Given the description of an element on the screen output the (x, y) to click on. 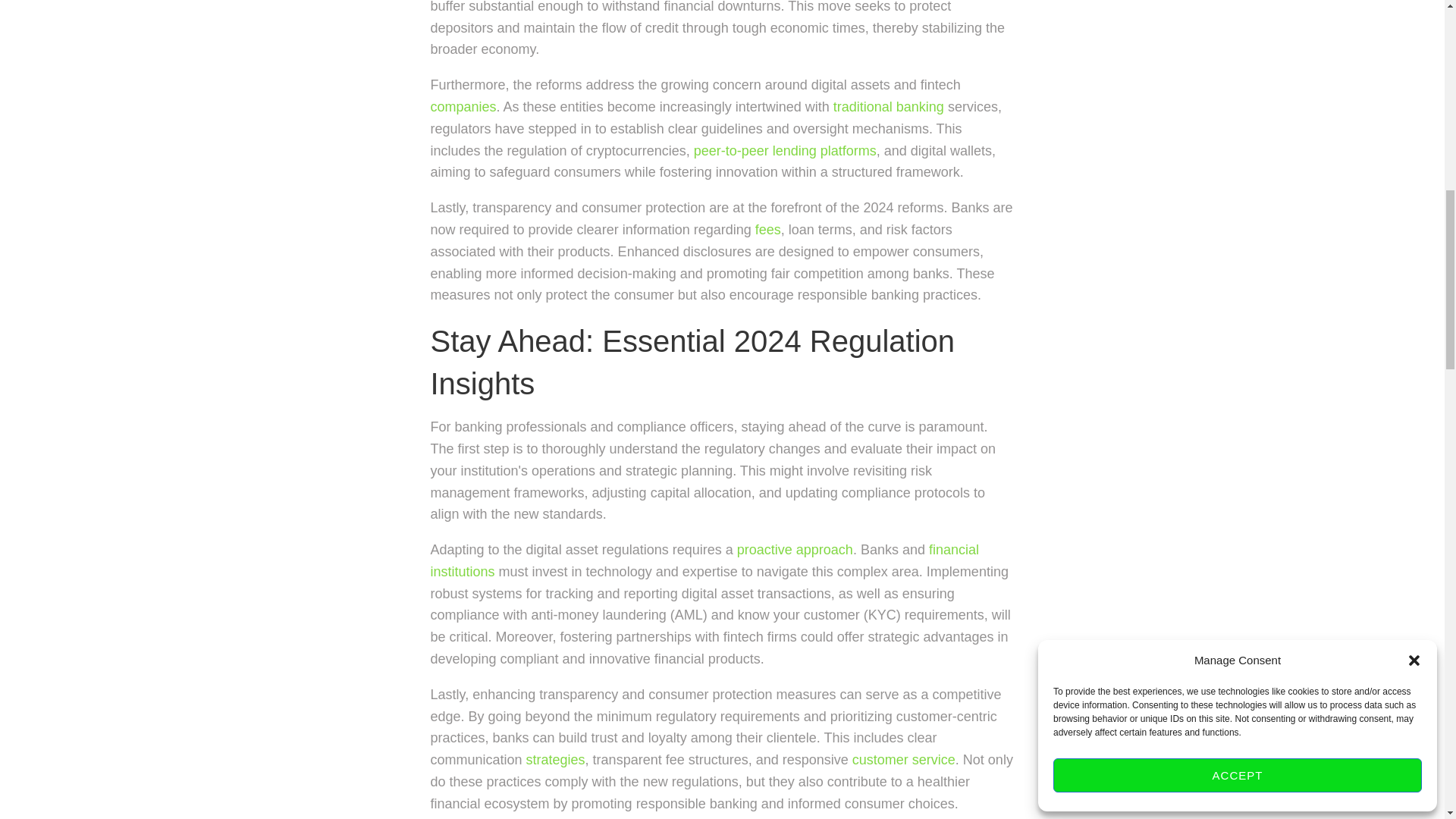
Posts tagged with customer service (903, 759)
Posts tagged with traditional banking (887, 106)
Posts tagged with companies (463, 106)
Posts tagged with financial institutions (704, 560)
Posts tagged with fees (767, 229)
Posts tagged with proactive approach (794, 549)
Posts tagged with strategies (555, 759)
Posts tagged with peer-to-peer lending platforms (785, 150)
